Given the description of an element on the screen output the (x, y) to click on. 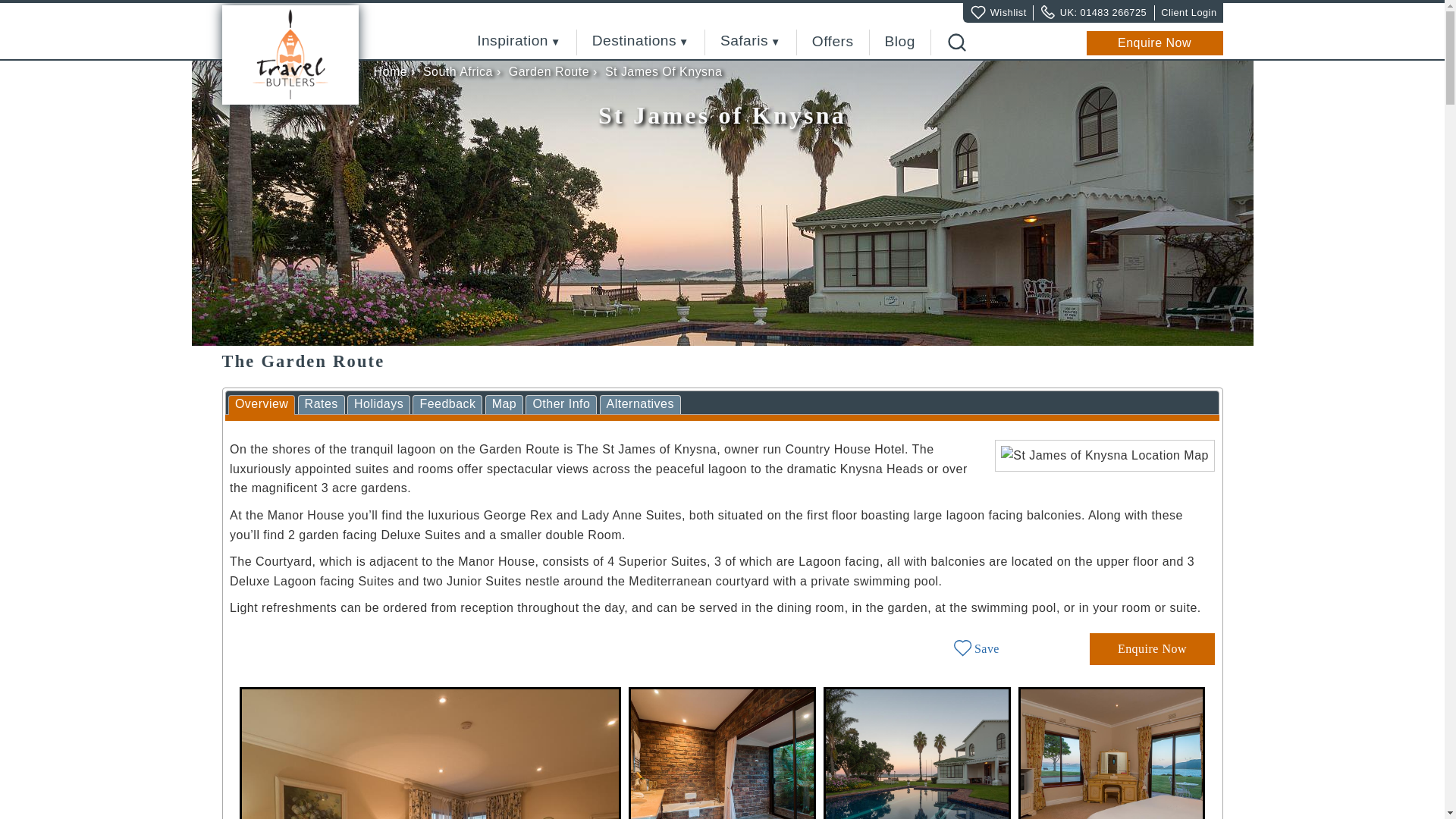
Destinations (640, 40)
Deluxe Suite (1111, 753)
Superior Suite Bedroom (430, 753)
Client Login (1187, 12)
Wishlist (1008, 12)
Inspiration (518, 40)
01483 266725 (1113, 12)
Deluxe Suite Bathroom (721, 753)
Pool Sunset (917, 753)
